Given the description of an element on the screen output the (x, y) to click on. 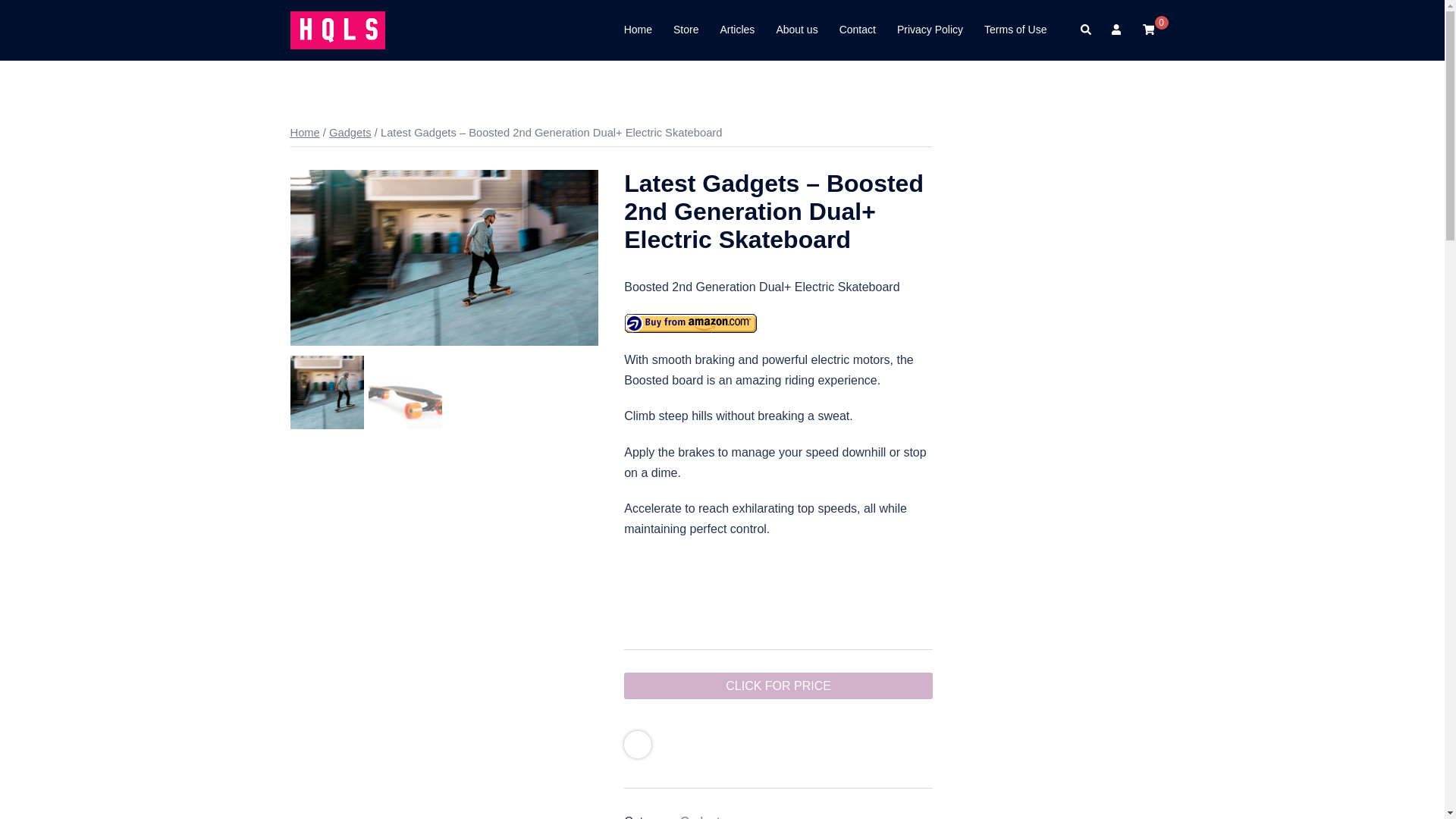
CLICK FOR PRICE (778, 686)
Home (303, 132)
Store (685, 30)
Home (638, 30)
Your account (1118, 30)
Gadgets (350, 132)
Articles (736, 30)
0 (1147, 29)
Terms of Use (1015, 30)
Contact (858, 30)
Gadgets (702, 816)
Privacy Policy (929, 30)
Search (1086, 30)
About us (796, 30)
High Quality Life Style (336, 29)
